Given the description of an element on the screen output the (x, y) to click on. 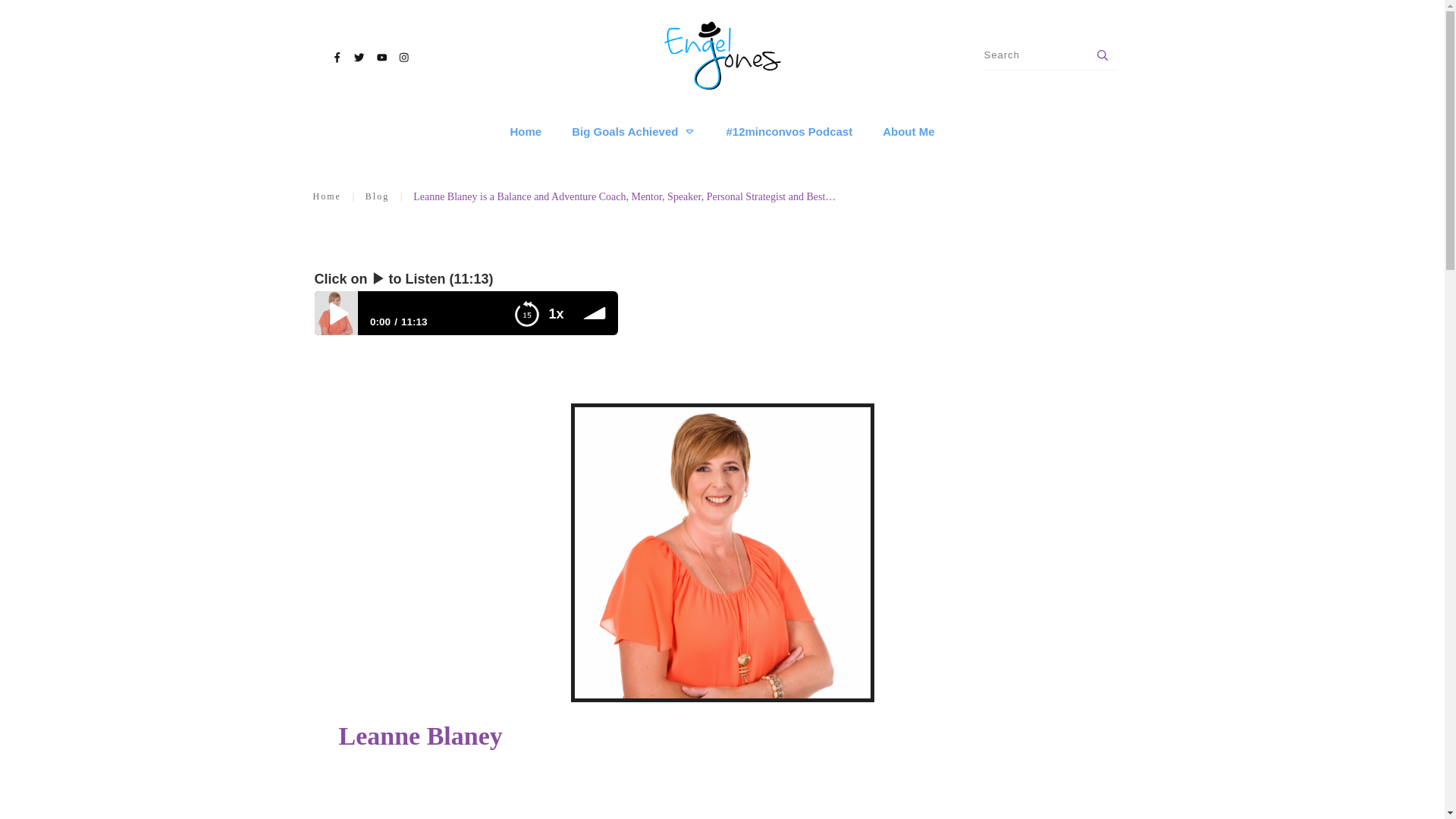
Blog (376, 196)
Home (525, 131)
About Me (908, 131)
Home (326, 196)
Big Goals Achieved (633, 131)
